Given the description of an element on the screen output the (x, y) to click on. 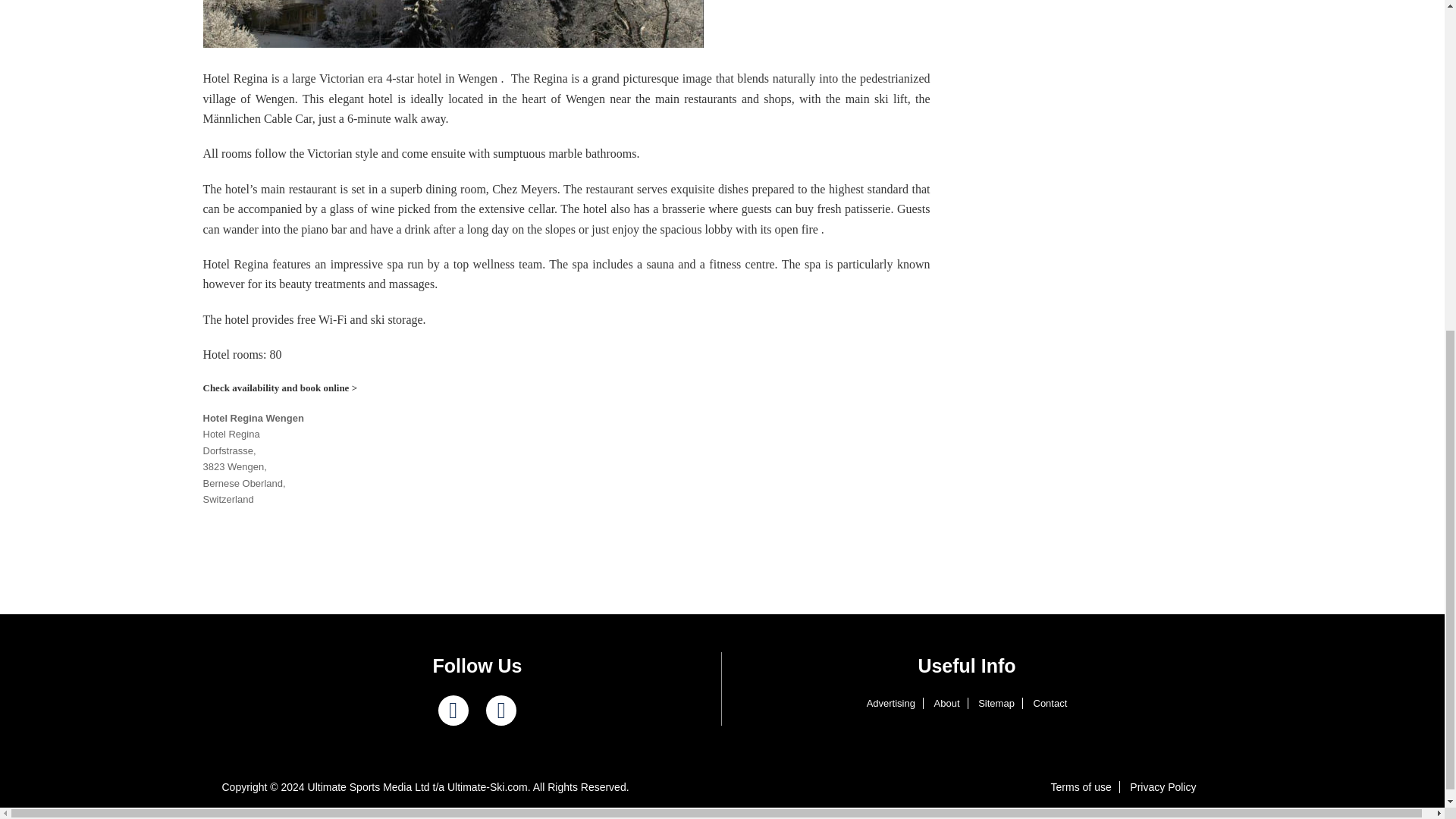
Contact (1049, 703)
Sitemap (997, 703)
Terms of use (1081, 787)
About (947, 703)
Privacy Policy (1163, 787)
Advertising (891, 703)
